Given the description of an element on the screen output the (x, y) to click on. 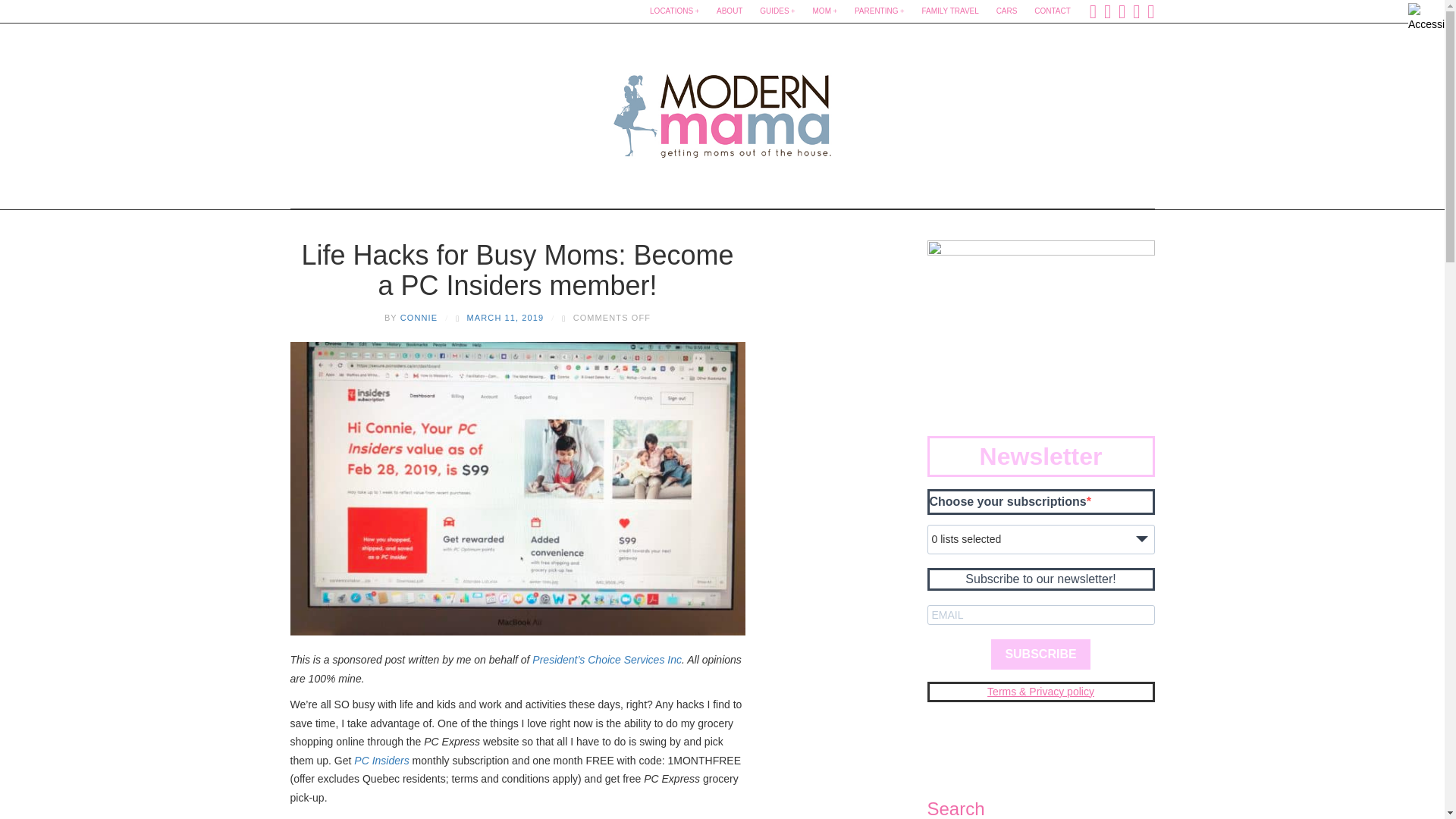
PARENTING (879, 11)
View all posts by connie (419, 317)
MOM (825, 11)
CARS (1006, 11)
2:36 pm (505, 317)
CONNIE (419, 317)
ABOUT (729, 11)
CONTACT (1052, 11)
GUIDES (777, 11)
Modern Mama (722, 111)
